Given the description of an element on the screen output the (x, y) to click on. 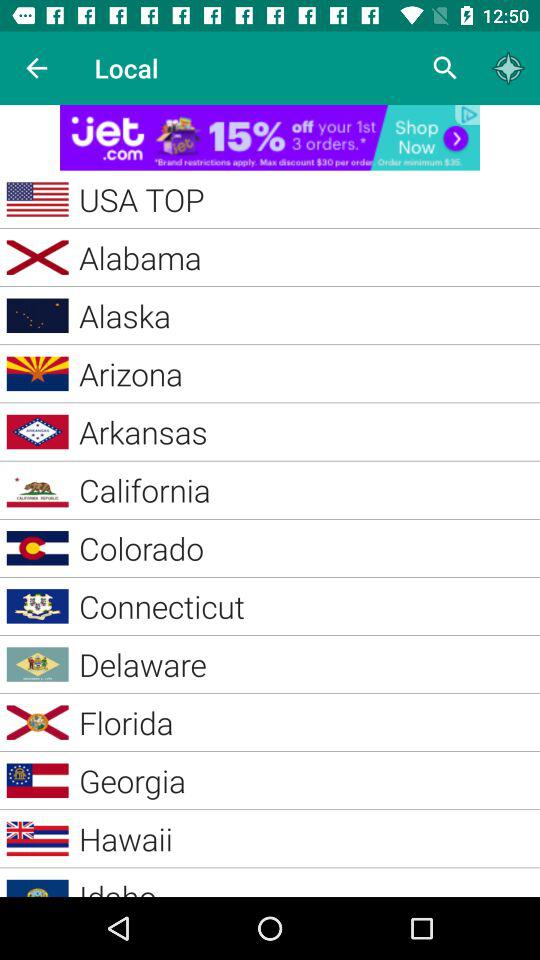
offer advertisement (270, 137)
